Given the description of an element on the screen output the (x, y) to click on. 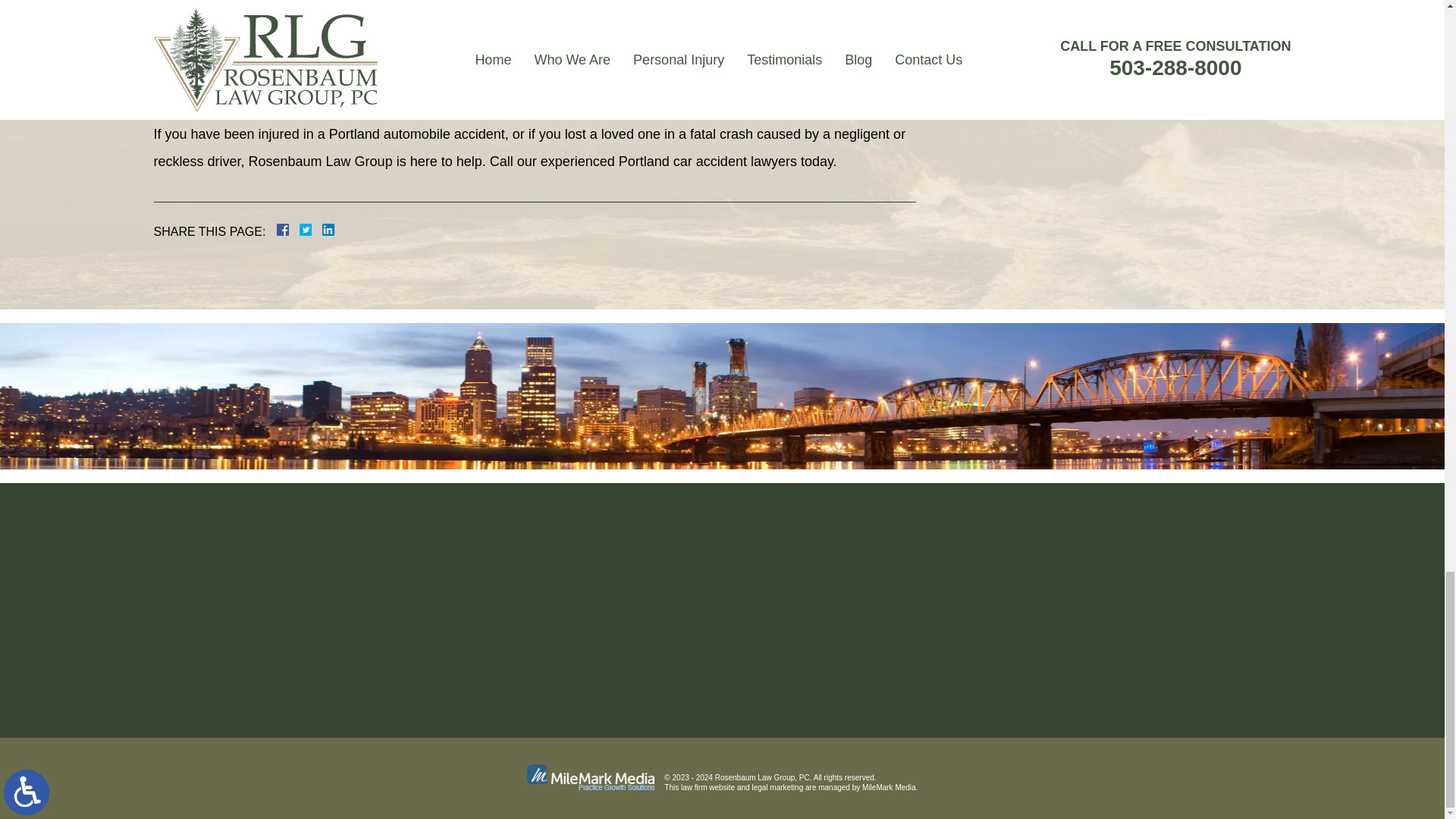
Twitter (311, 229)
LinkedIn (322, 229)
Facebook (300, 229)
